Given the description of an element on the screen output the (x, y) to click on. 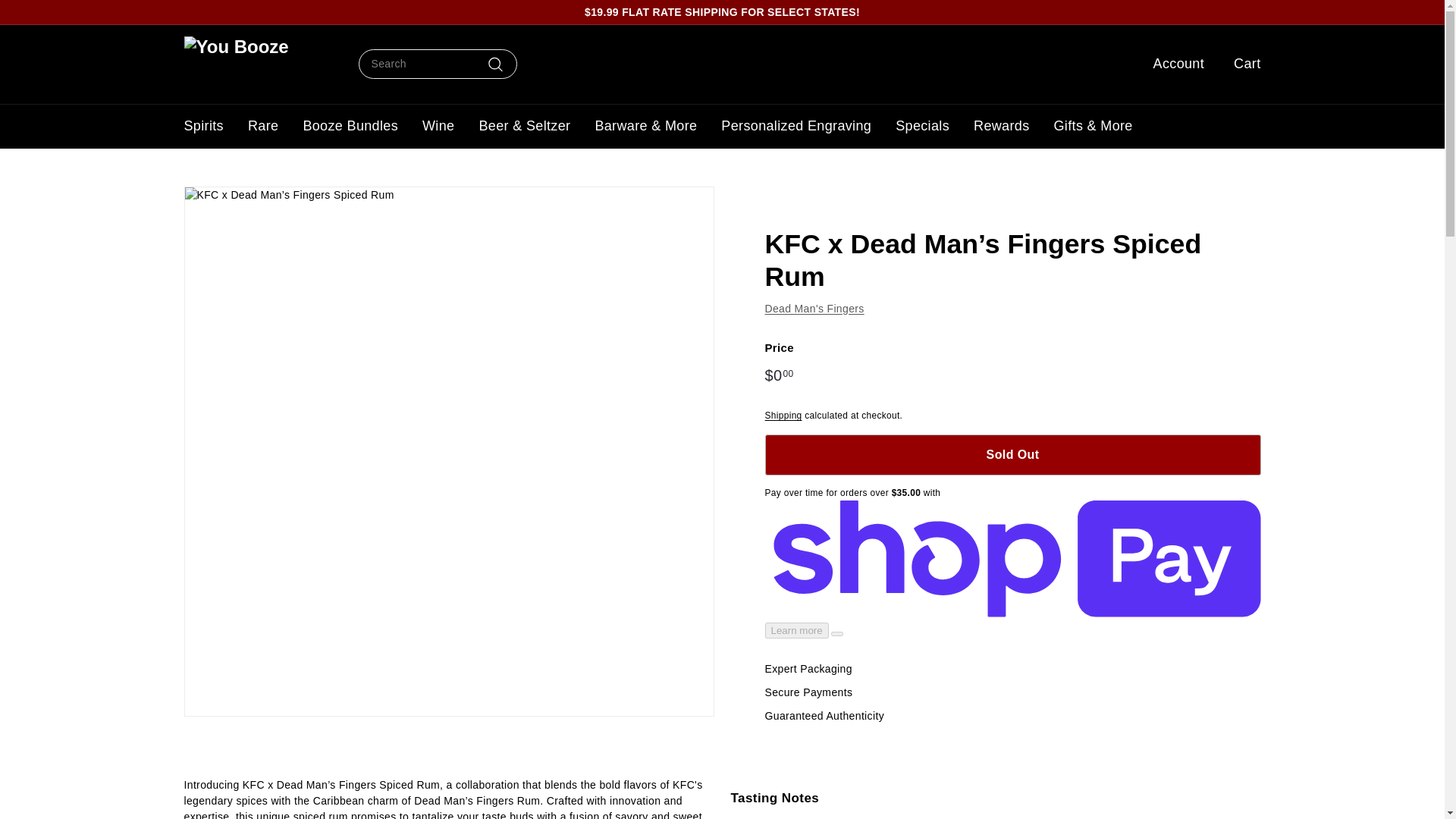
Dead Man's Fingers (813, 308)
Account (1173, 63)
Cart (1240, 63)
